Given the description of an element on the screen output the (x, y) to click on. 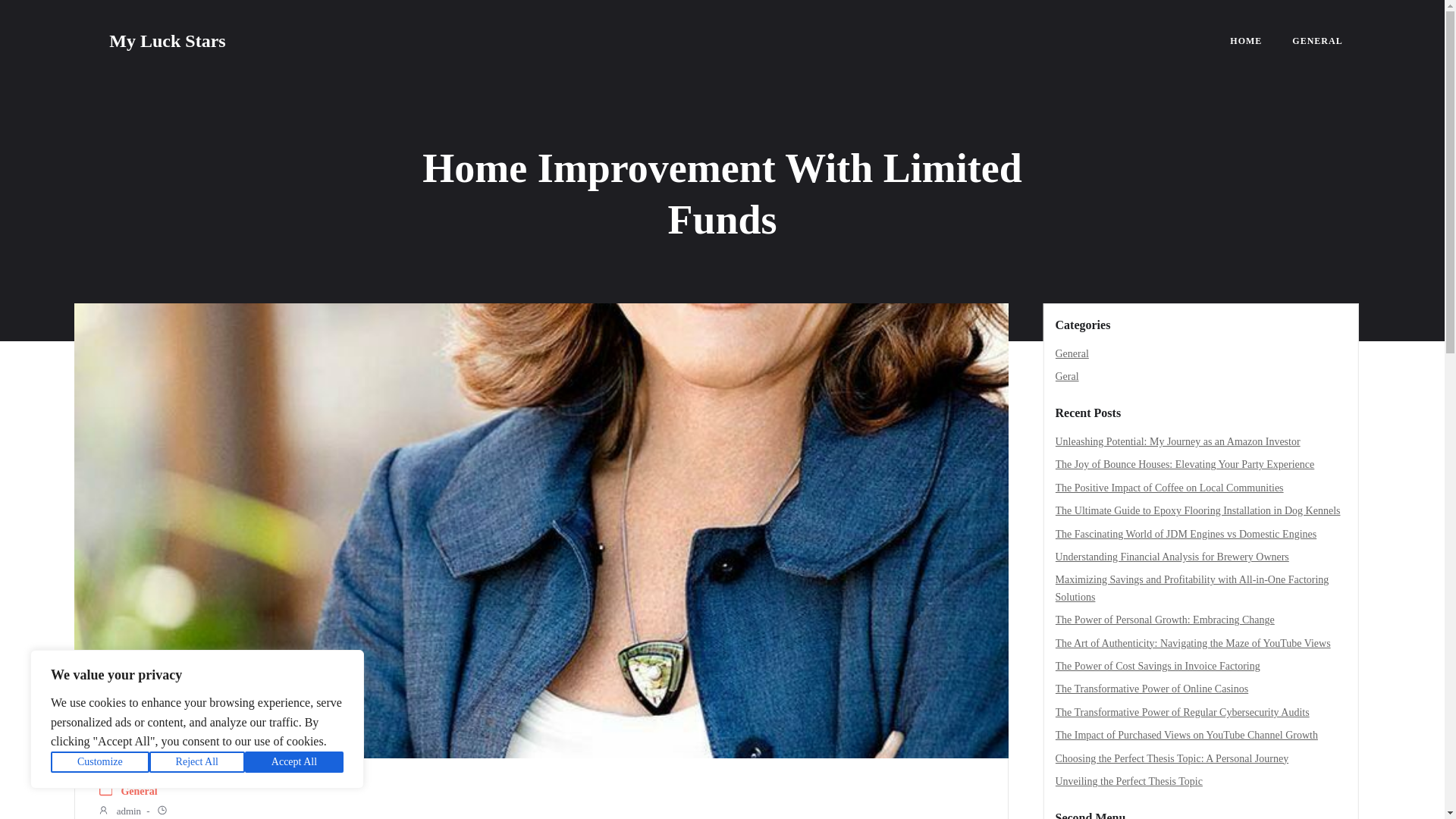
General (1072, 353)
GENERAL (1317, 40)
Accept All (293, 762)
Geral (1066, 376)
HOME (1246, 40)
Customize (99, 762)
My Luck Stars (167, 40)
Unleashing Potential: My Journey as an Amazon Investor (1177, 441)
General (138, 791)
